Given the description of an element on the screen output the (x, y) to click on. 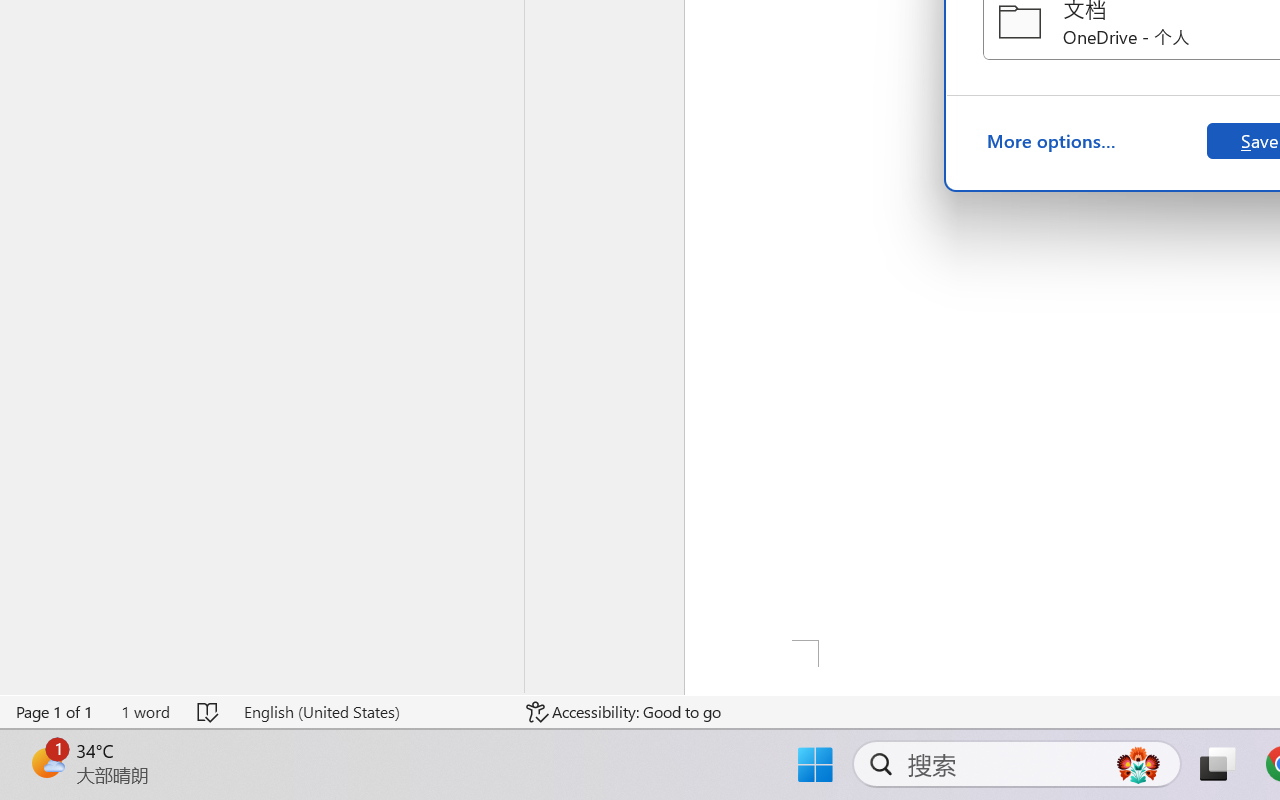
AutomationID: BadgeAnchorLargeTicker (46, 762)
Page Number Page 1 of 1 (55, 712)
Accessibility Checker Accessibility: Good to go (623, 712)
AutomationID: DynamicSearchBoxGleamImage (1138, 764)
Spelling and Grammar Check No Errors (208, 712)
Language English (United States) (370, 712)
Word Count 1 word (145, 712)
